Given the description of an element on the screen output the (x, y) to click on. 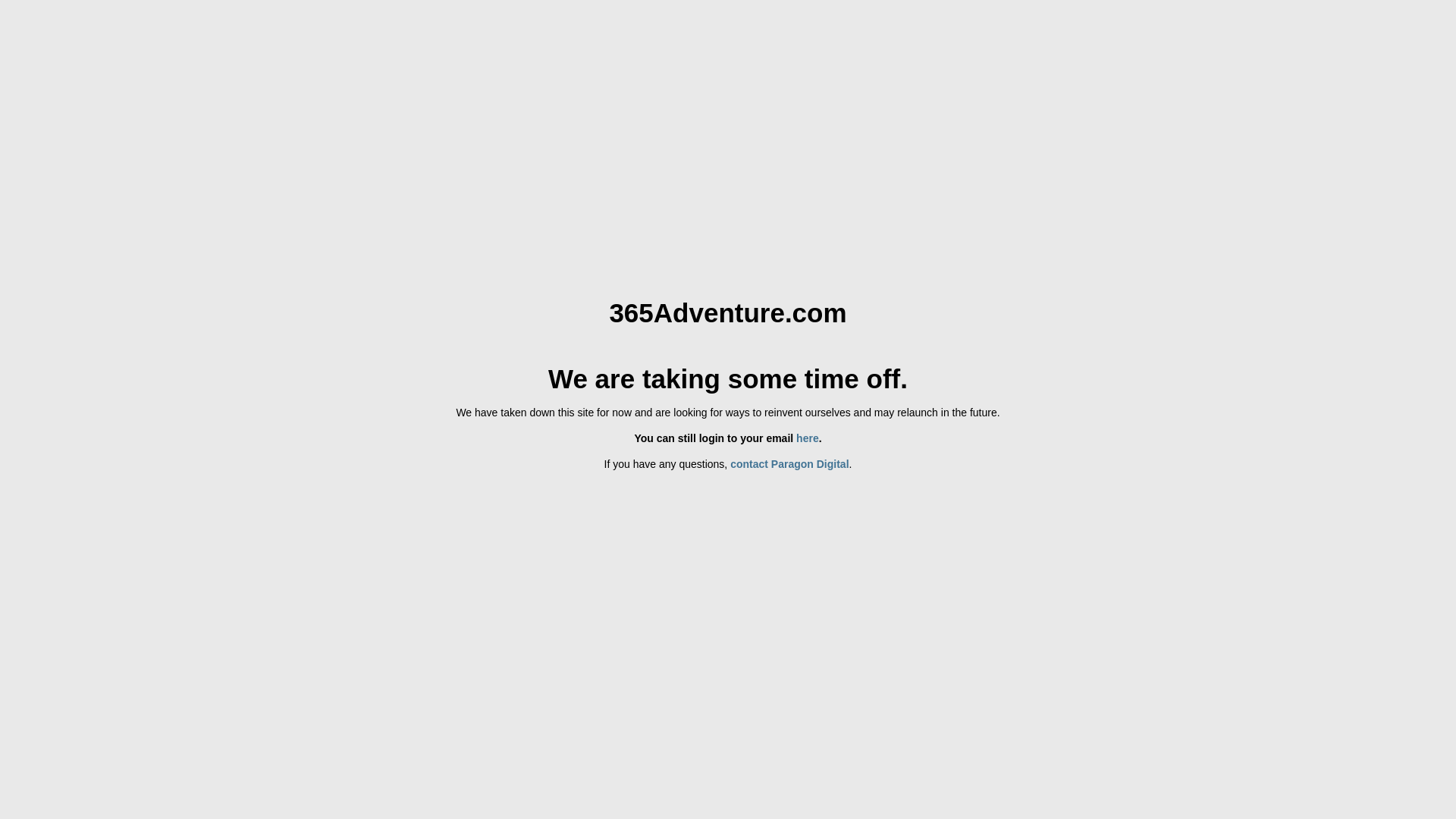
here Element type: text (807, 438)
contact Paragon Digital Element type: text (789, 464)
